Given the description of an element on the screen output the (x, y) to click on. 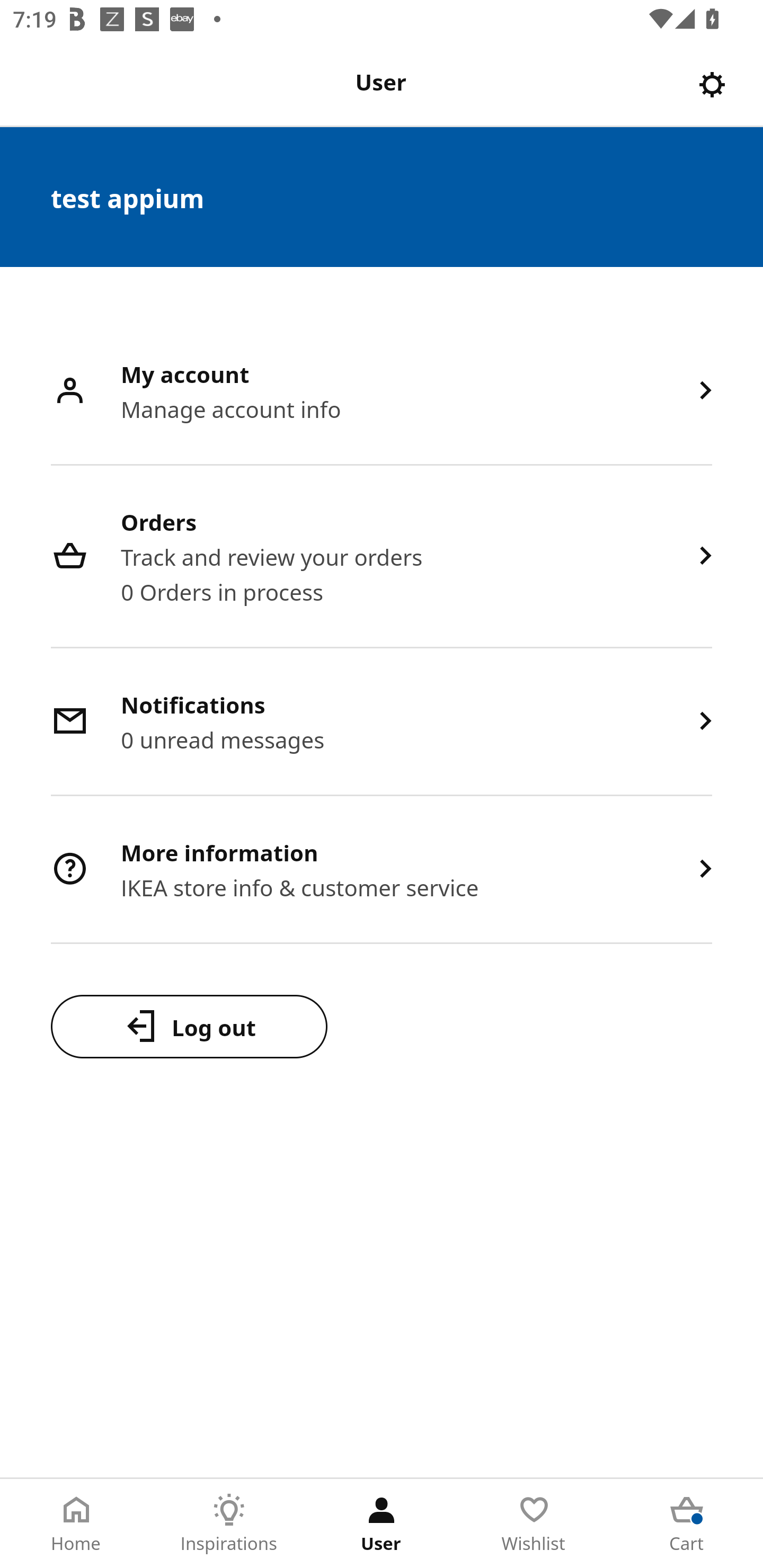
My account
Manage account info (381, 391)
Notifications
0 unread messages (381, 722)
Log out (189, 1026)
Home
Tab 1 of 5 (76, 1522)
Inspirations
Tab 2 of 5 (228, 1522)
User
Tab 3 of 5 (381, 1522)
Wishlist
Tab 4 of 5 (533, 1522)
Cart
Tab 5 of 5 (686, 1522)
